Given the description of an element on the screen output the (x, y) to click on. 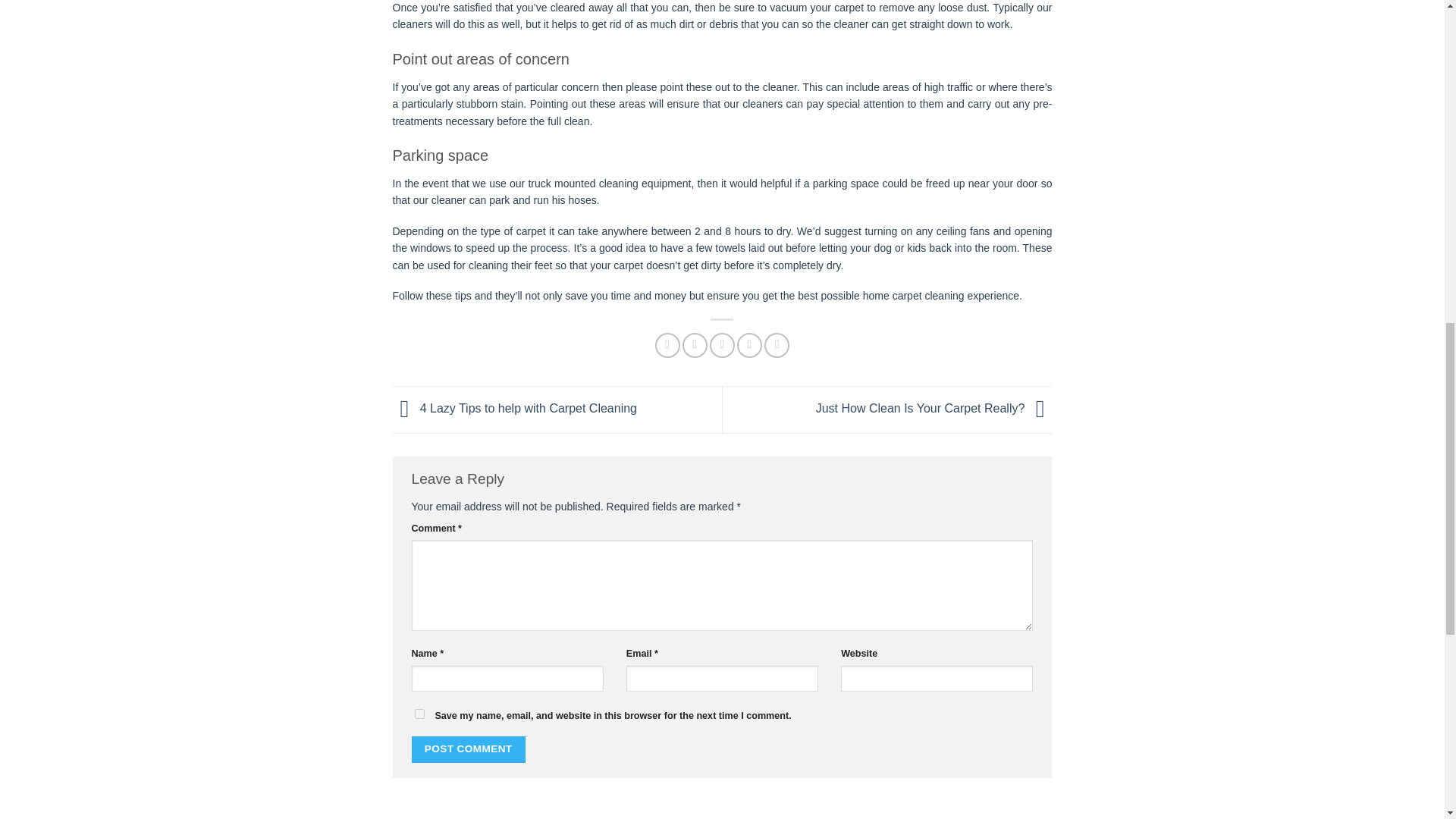
Post Comment (467, 749)
yes (418, 714)
Post Comment (467, 749)
Pin on Pinterest (748, 344)
4 Lazy Tips to help with Carpet Cleaning (515, 408)
Just How Clean Is Your Carpet Really? (933, 408)
Share on Facebook (667, 344)
Email to a Friend (722, 344)
Share on Twitter (694, 344)
Share on Tumblr (776, 344)
